Given the description of an element on the screen output the (x, y) to click on. 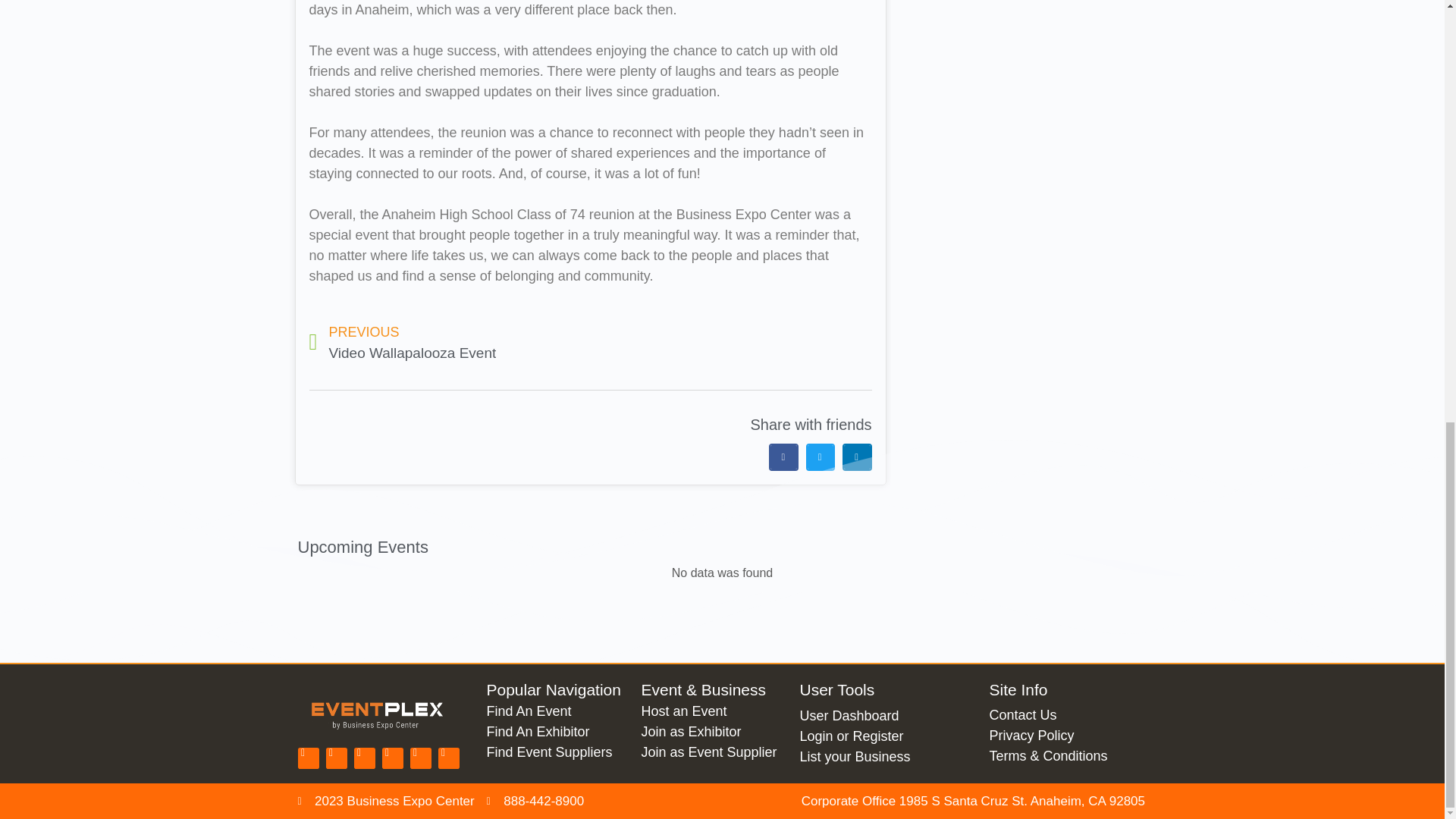
Host an Event (712, 711)
Find An Event (556, 711)
Find An Exhibitor (449, 342)
Find Event Suppliers (556, 731)
